Given the description of an element on the screen output the (x, y) to click on. 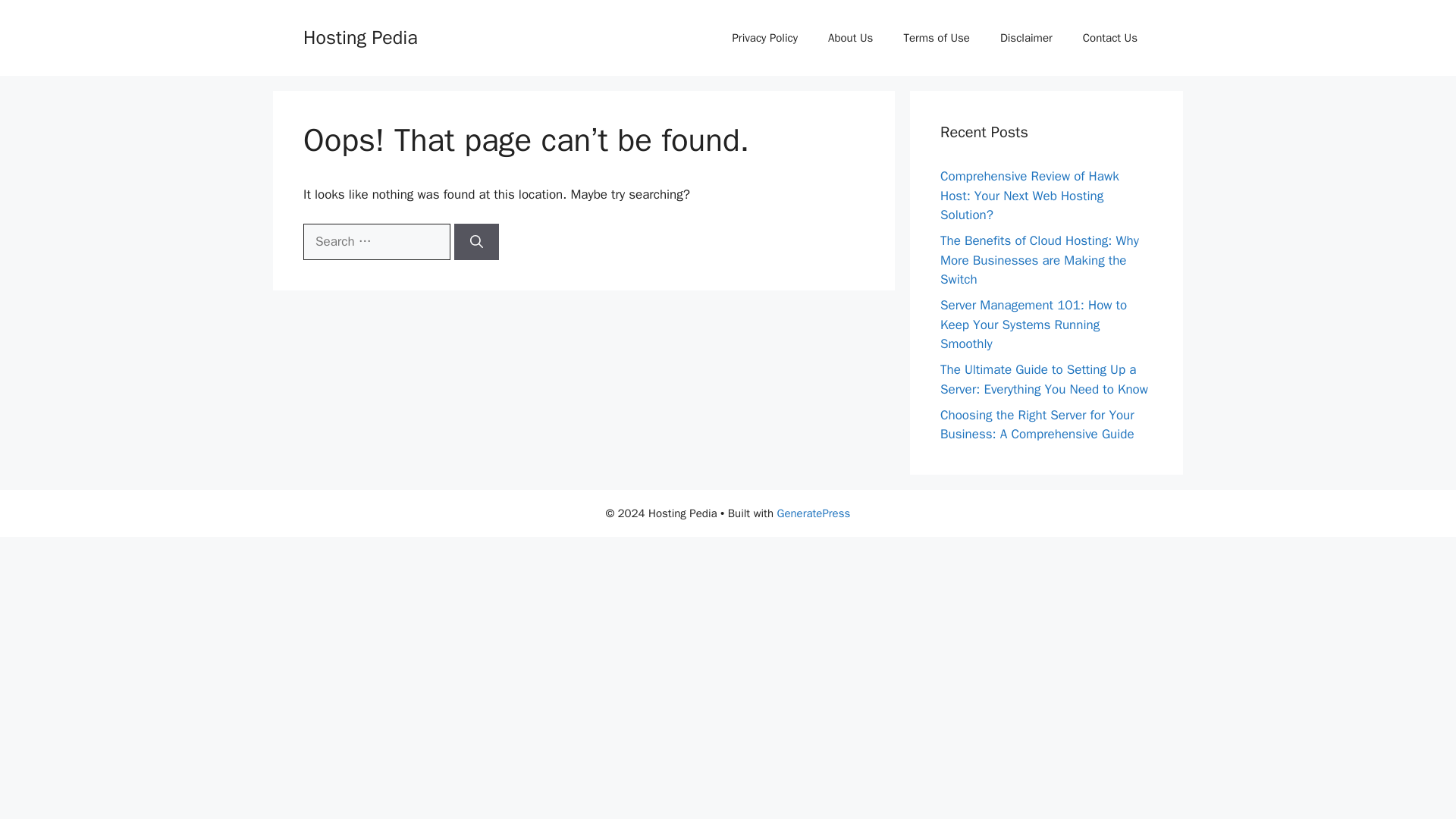
Privacy Policy (764, 37)
Disclaimer (1026, 37)
About Us (850, 37)
Hosting Pedia (359, 37)
Contact Us (1110, 37)
GeneratePress (813, 513)
Search for: (375, 241)
